Given the description of an element on the screen output the (x, y) to click on. 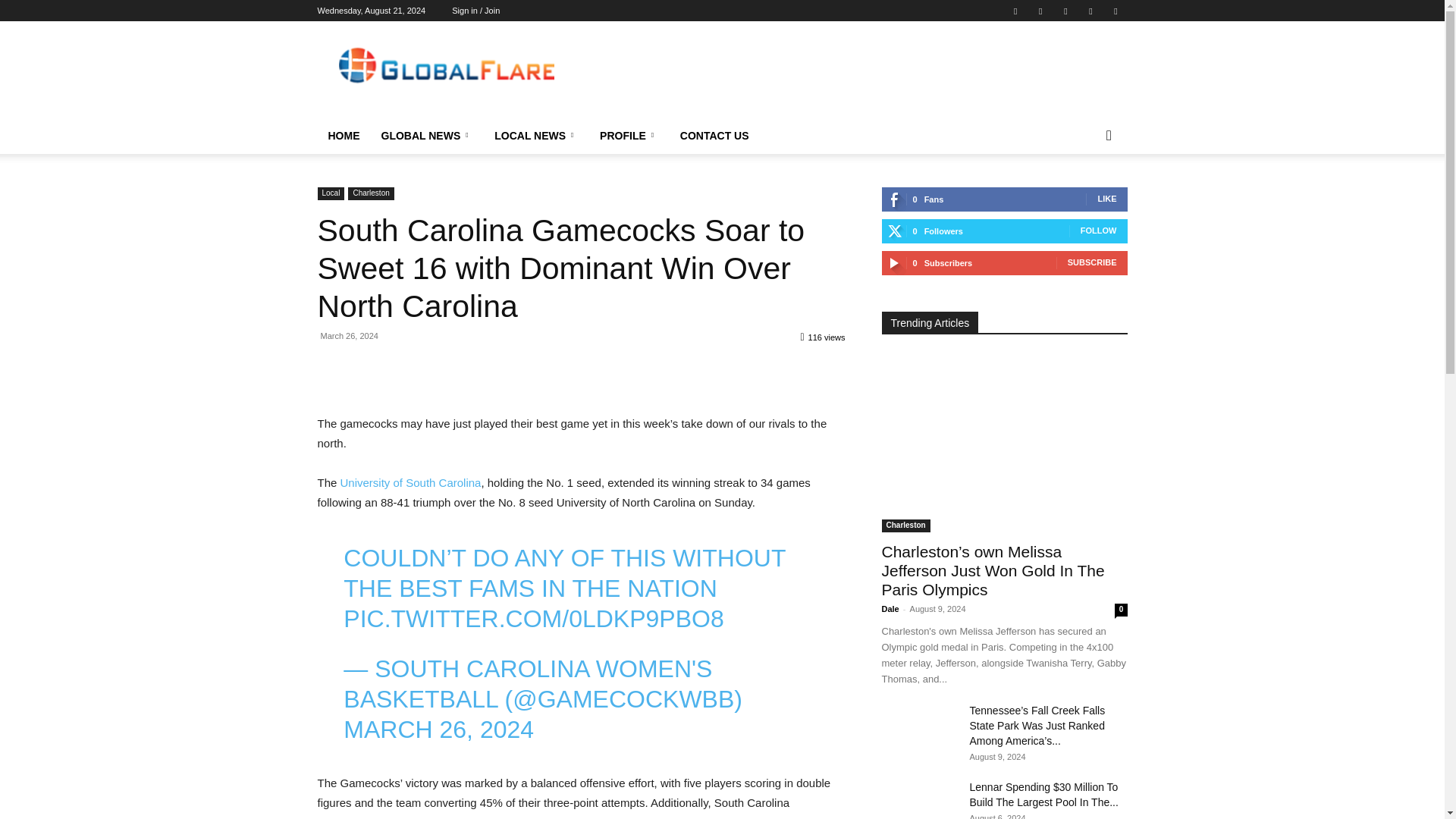
VKontakte (1090, 10)
Facebook (1015, 10)
Twitter (1040, 10)
Vimeo (1065, 10)
Youtube (1114, 10)
